Given the description of an element on the screen output the (x, y) to click on. 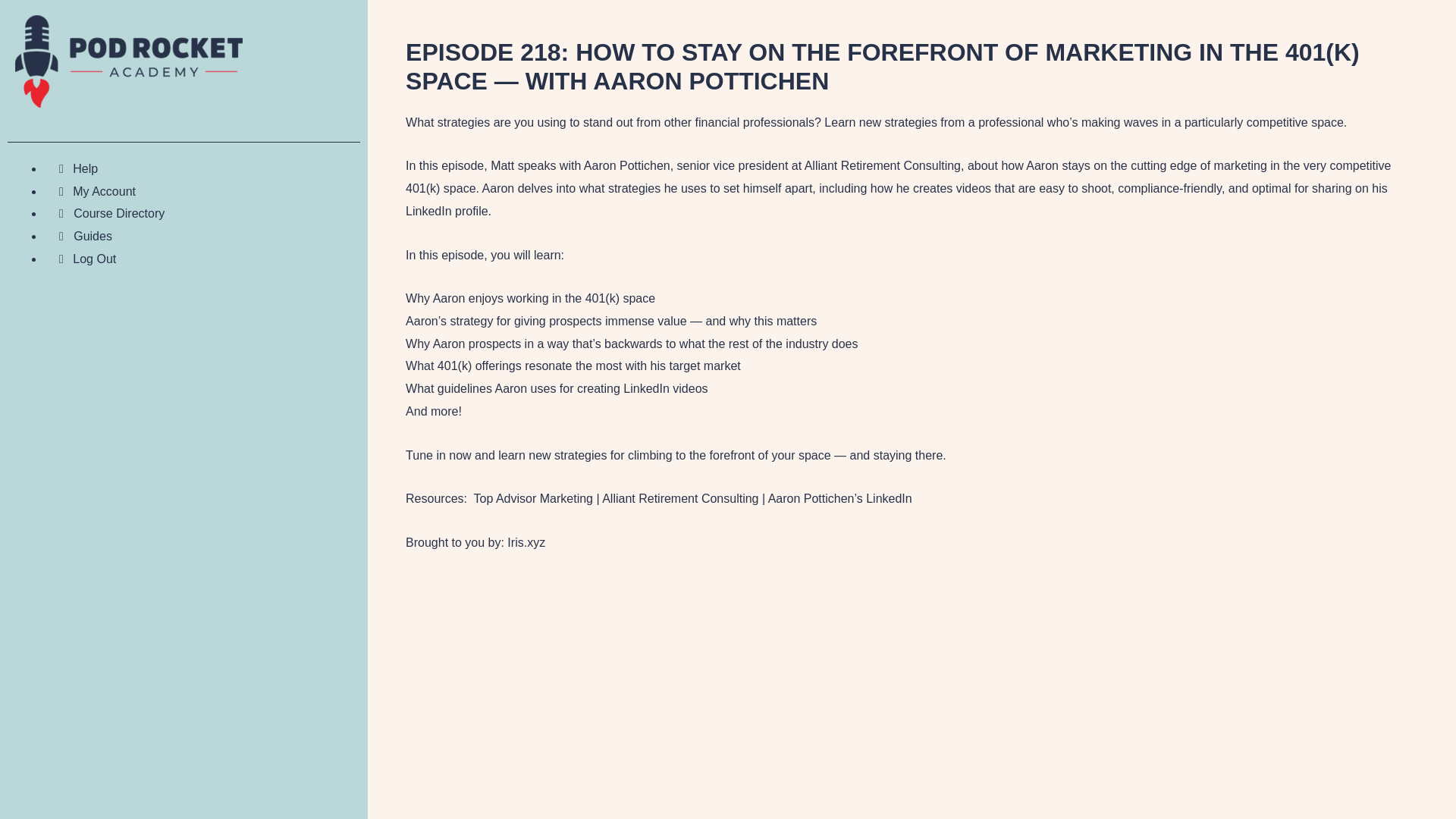
  Course Directory (103, 213)
Help (70, 168)
  Guides (77, 236)
My Account (89, 191)
Log Out (79, 258)
